Given the description of an element on the screen output the (x, y) to click on. 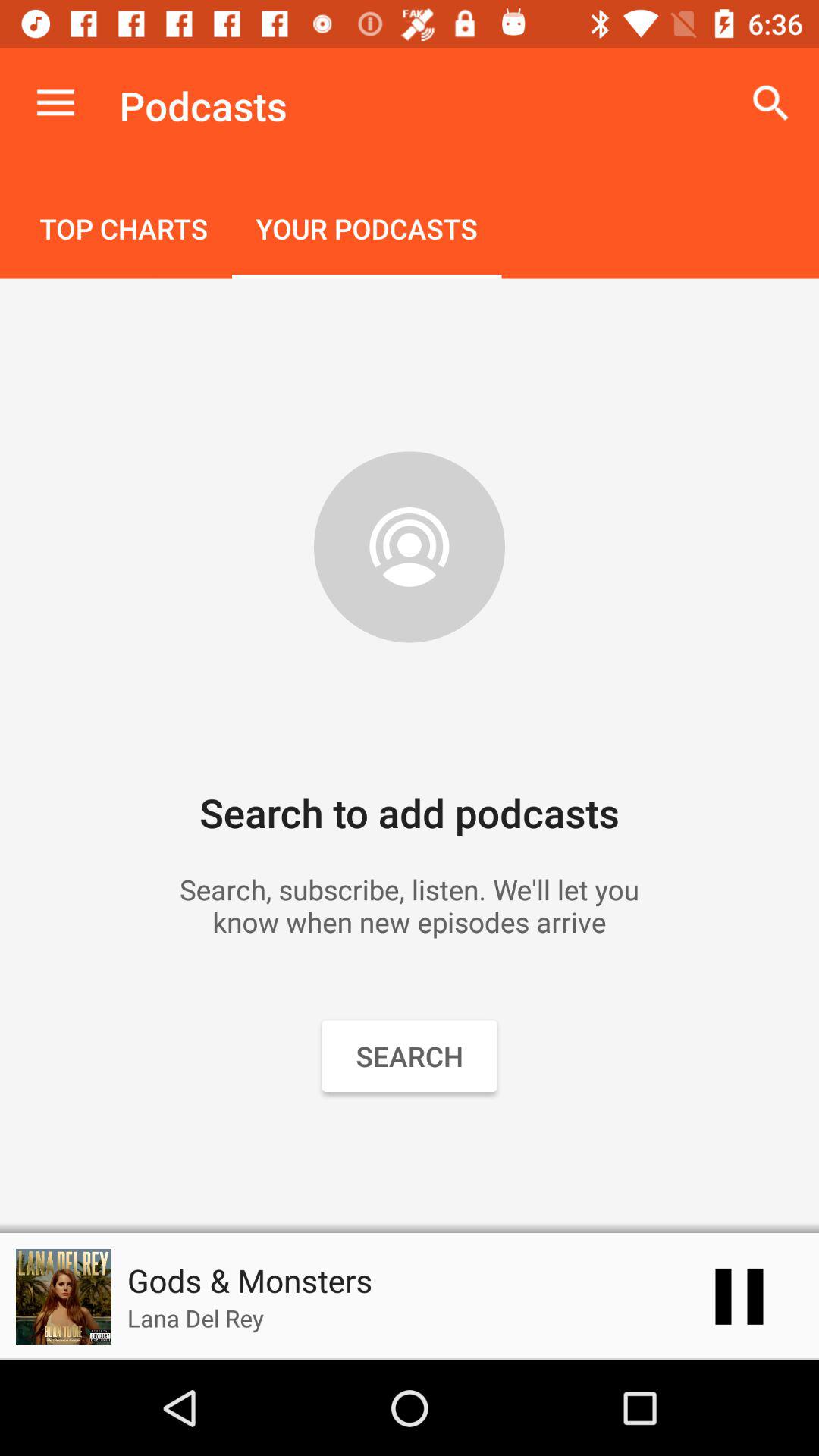
launch the item next to the your podcasts item (123, 230)
